Given the description of an element on the screen output the (x, y) to click on. 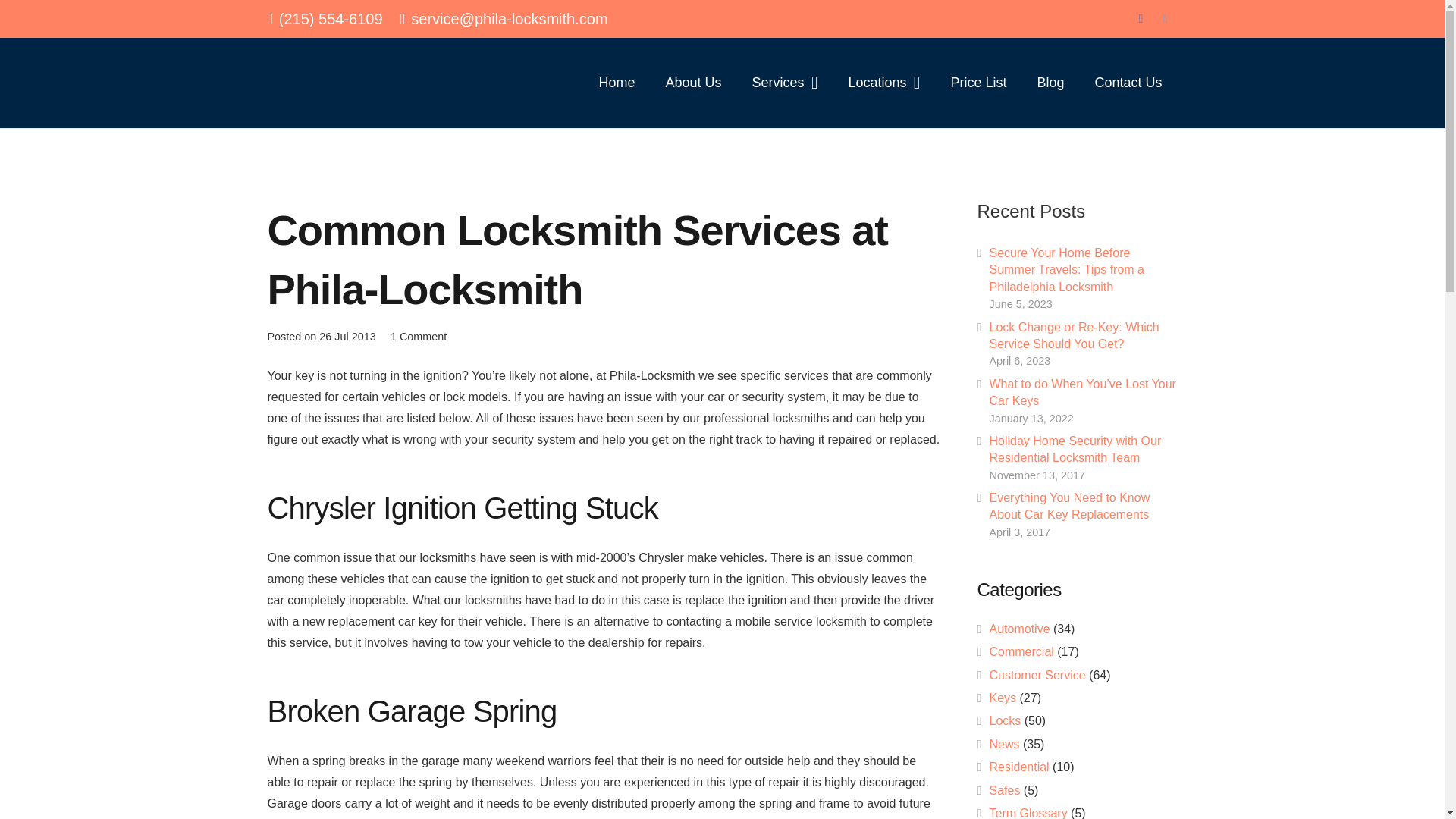
1 Comment (418, 336)
1 Comment (418, 336)
Contact Us (1127, 82)
Locations (883, 82)
Price List (978, 82)
Services (784, 82)
Facebook (1140, 18)
About Us (692, 82)
Twitter (1164, 18)
